Given the description of an element on the screen output the (x, y) to click on. 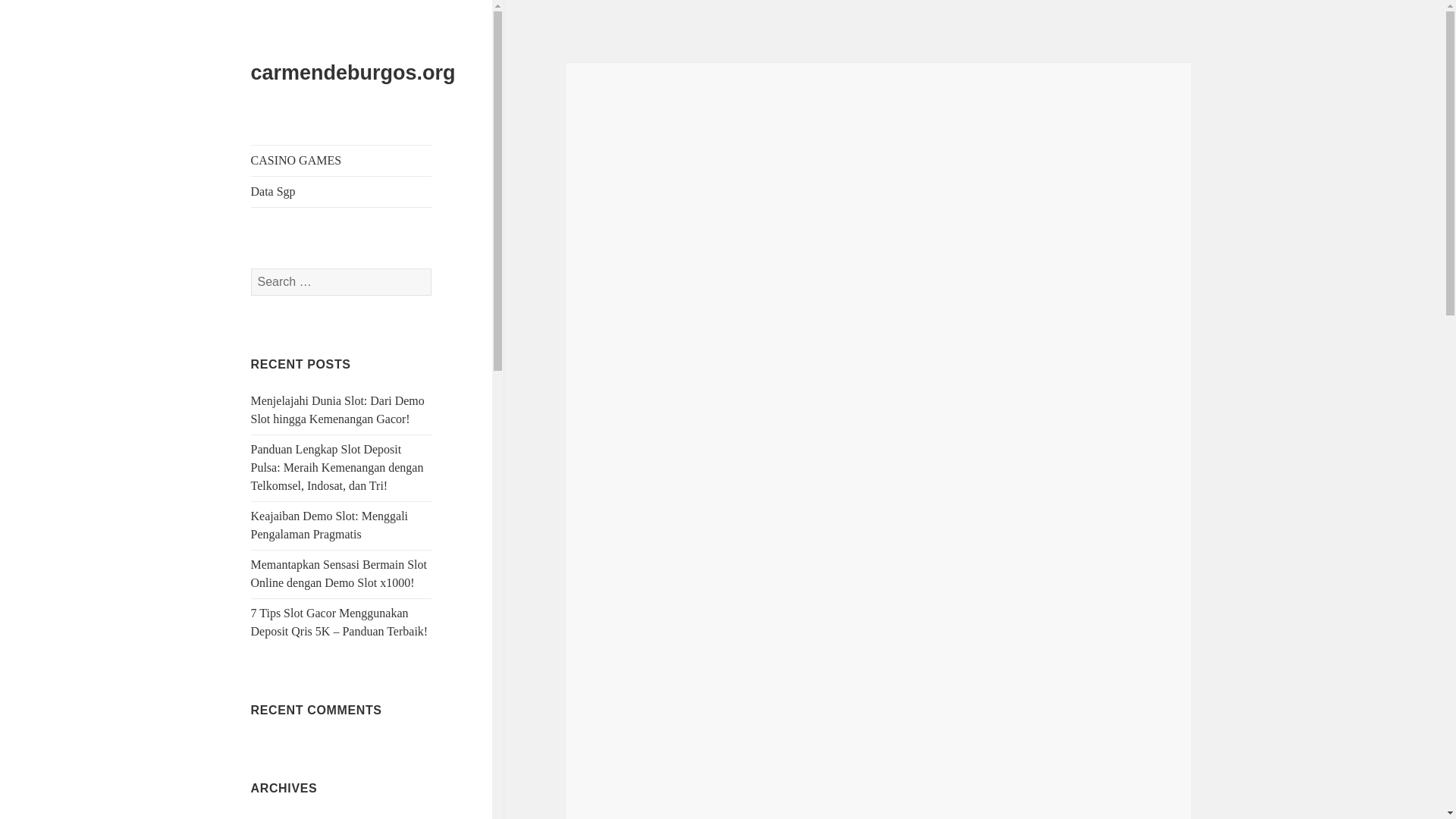
Data Sgp (341, 191)
carmendeburgos.org (352, 72)
July 2024 (274, 818)
Keajaiban Demo Slot: Menggali Pengalaman Pragmatis (329, 524)
CASINO GAMES (341, 160)
